Given the description of an element on the screen output the (x, y) to click on. 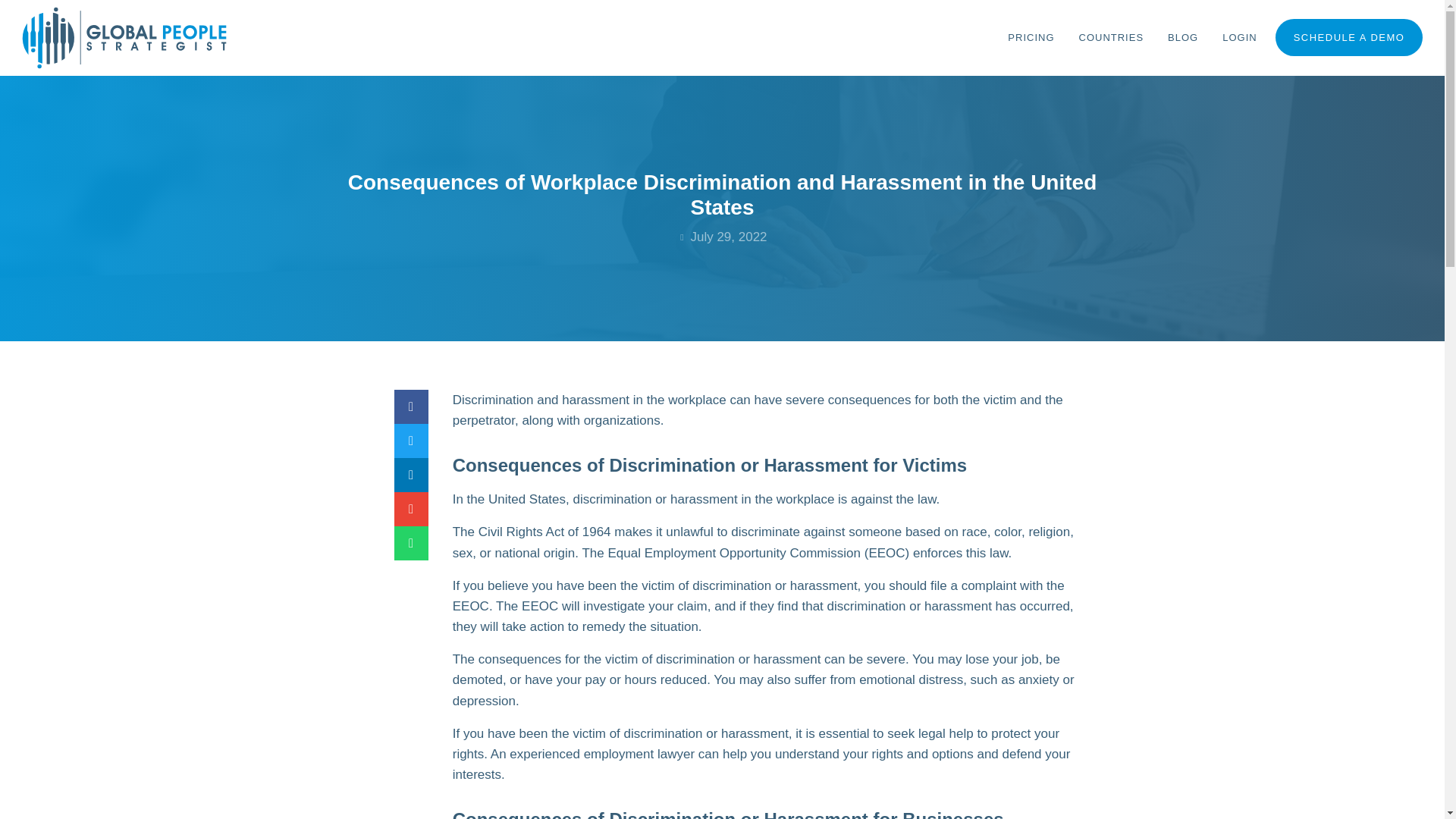
LOGIN (1239, 37)
PRICING (1030, 37)
COUNTRIES (1111, 37)
BLOG (1182, 37)
July 29, 2022 (722, 236)
Opens a widget where you can find more information (1376, 792)
SCHEDULE A DEMO (1349, 37)
